Given the description of an element on the screen output the (x, y) to click on. 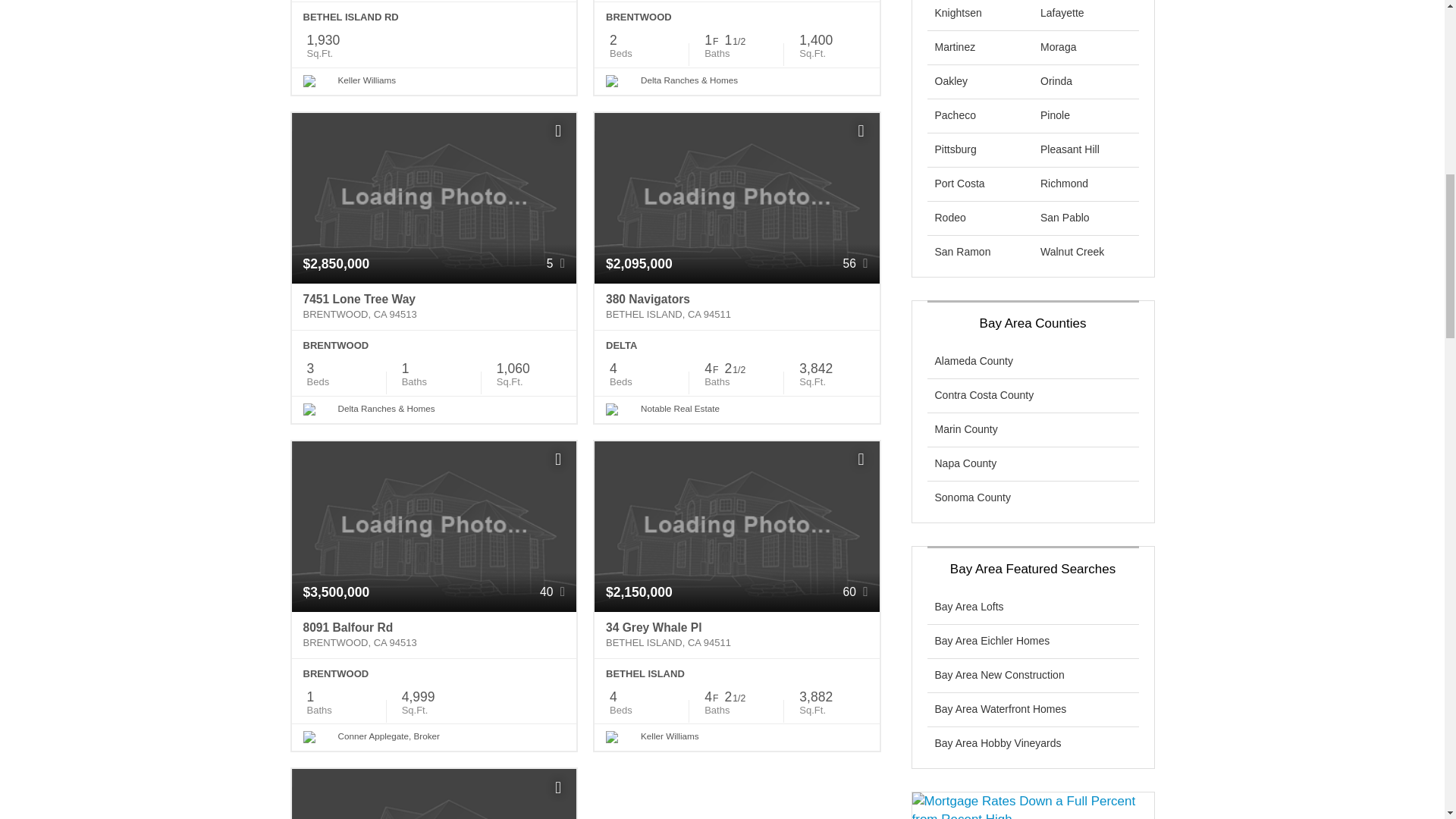
380 Navigators Bethel Island,  CA 94511 (736, 306)
8091 Balfour Rd Brentwood,  CA 94513 (433, 635)
34 Grey Whale Pl Bethel Island,  CA 94511 (736, 635)
7451 Lone Tree Way Brentwood,  CA 94513 (433, 306)
